Given the description of an element on the screen output the (x, y) to click on. 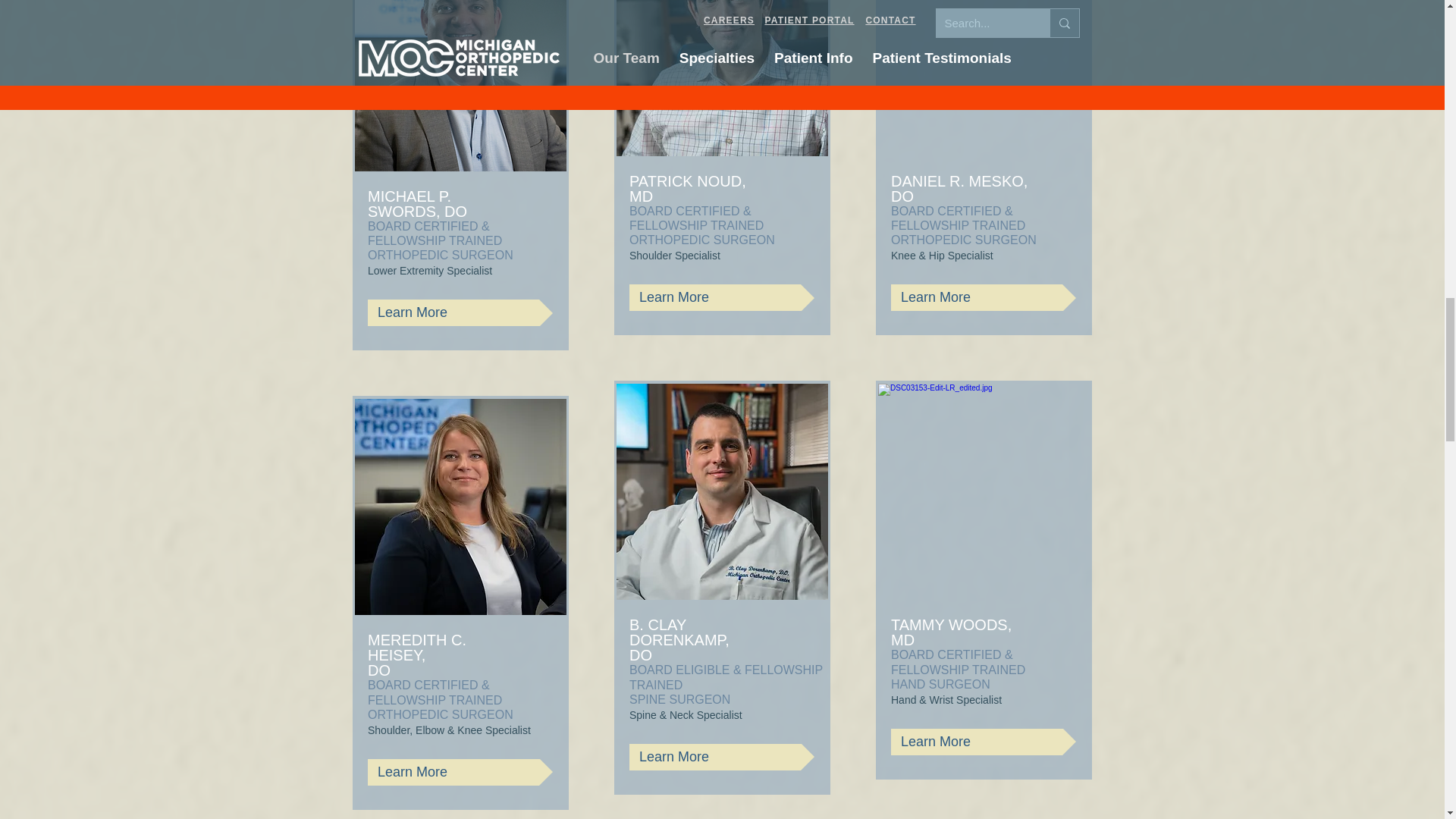
Learn More (720, 756)
Learn More (720, 297)
Noud.jpeg (721, 78)
Dorenkamp.jpeg (721, 491)
Learn More (460, 312)
Learn More (460, 772)
D Mesko.jpeg (983, 78)
